Given the description of an element on the screen output the (x, y) to click on. 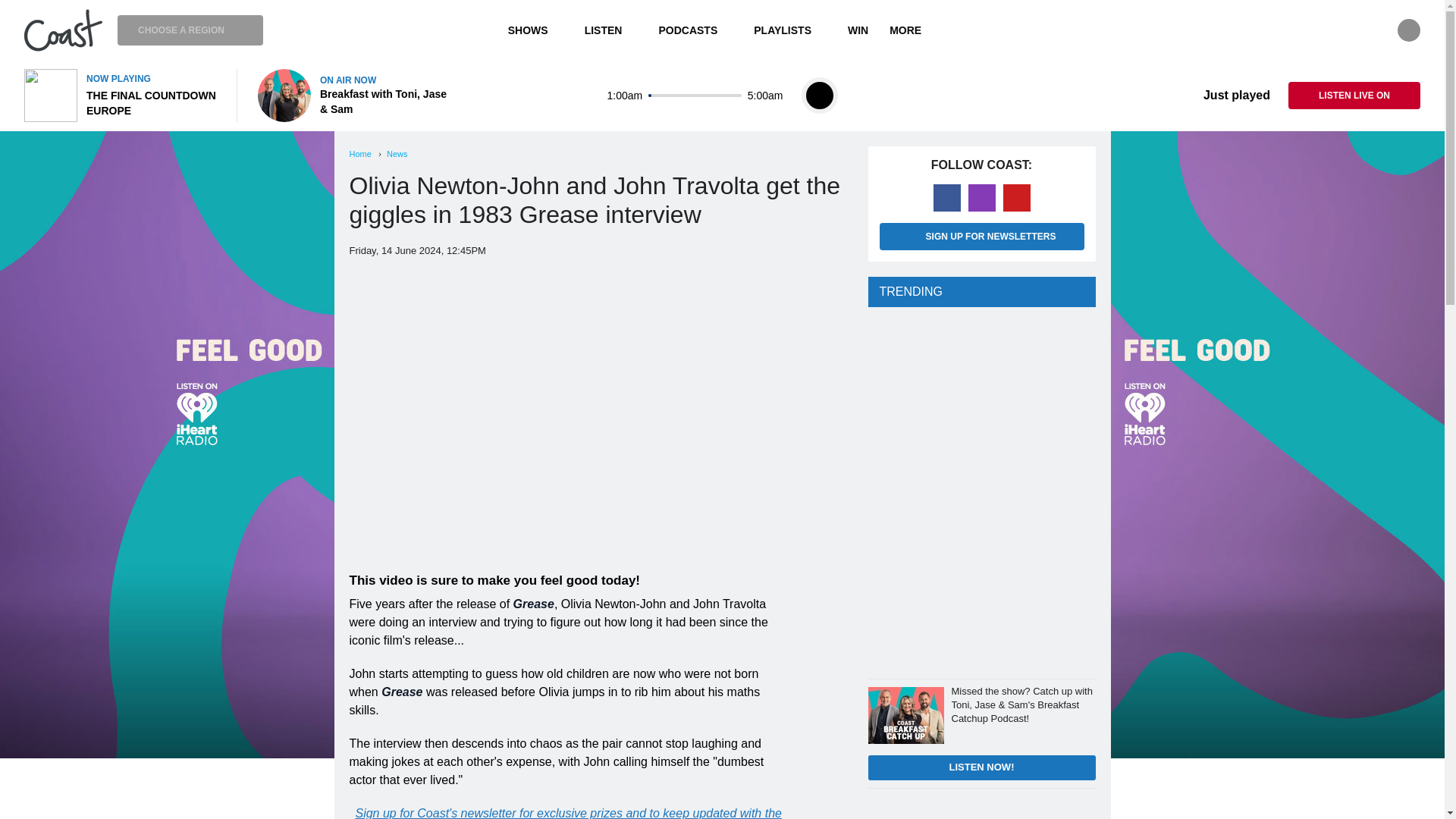
Coast (62, 29)
LISTEN (610, 30)
SHOWS (535, 30)
Just played (1225, 95)
Listen to THE FINAL COUNTDOWN by EUROPE (121, 95)
CHOOSE A REGION (190, 30)
